Given the description of an element on the screen output the (x, y) to click on. 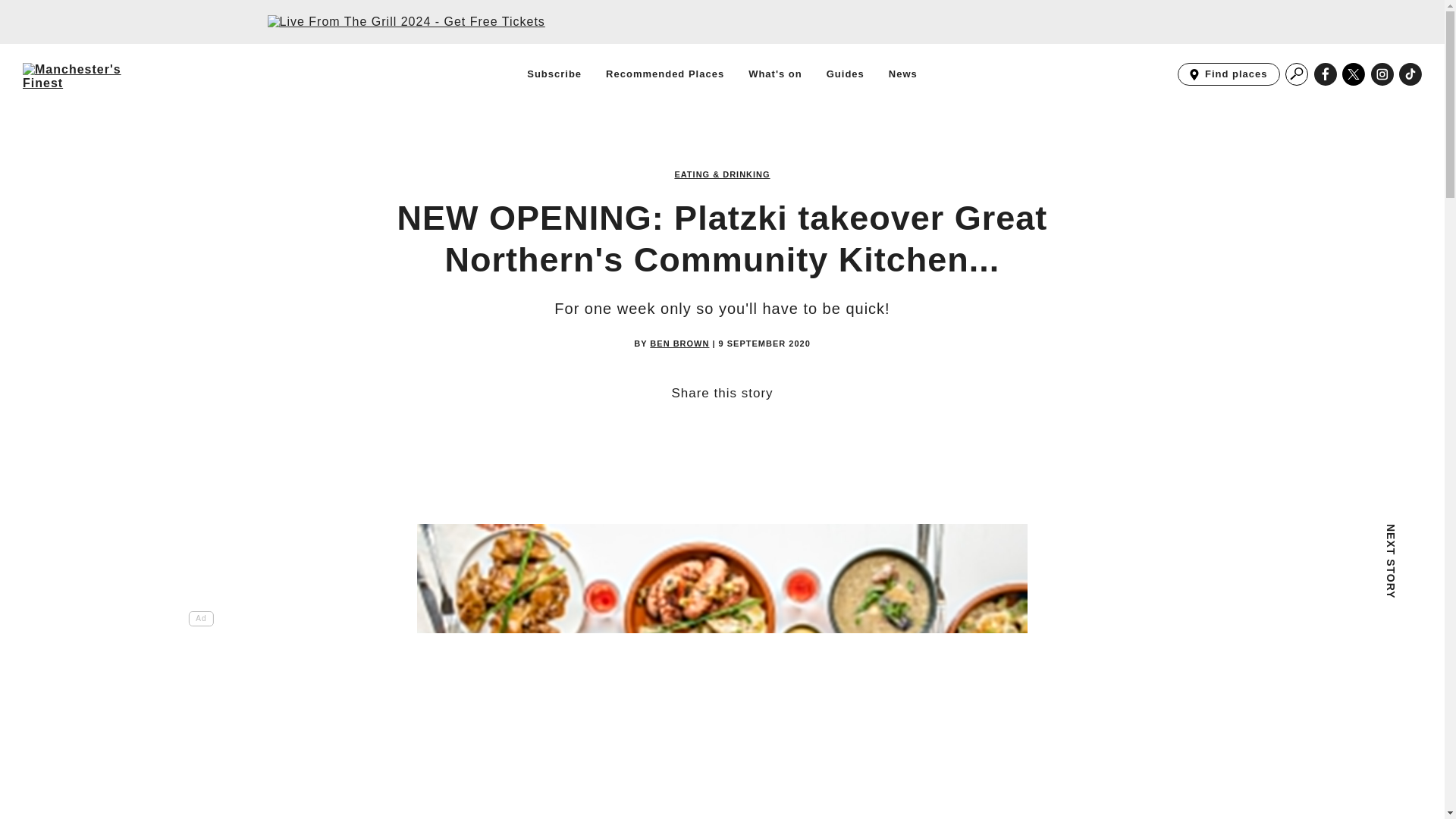
Go to Manchester's Finest TikTok profile (1410, 74)
News (1228, 74)
Guides (902, 73)
NEXT STORY (845, 73)
Go to Manchester's Finest Instagram profile (1297, 567)
BEN BROWN (1382, 74)
Subscribe (679, 343)
Go to Manchester's Finest TikTok profile (553, 73)
Go to Manchester's Finest Instagram profile (1410, 74)
